Given the description of an element on the screen output the (x, y) to click on. 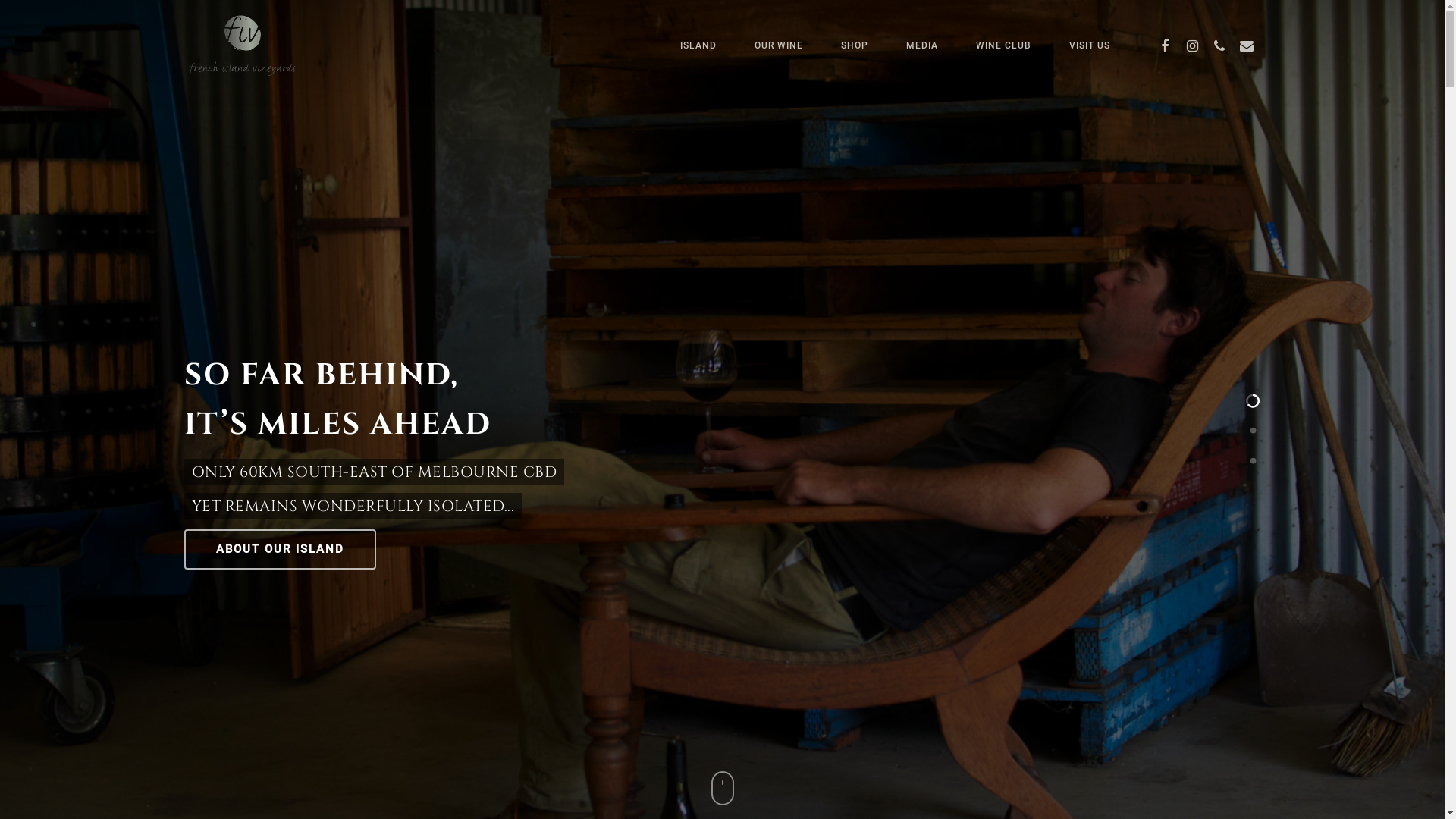
VISIT US Element type: text (1088, 45)
ISLAND Element type: text (698, 45)
SHOP Element type: text (854, 45)
ABOUT OUR ISLAND Element type: text (280, 549)
MEDIA Element type: text (922, 45)
OUR WINE Element type: text (778, 45)
WINE CLUB Element type: text (1003, 45)
